Given the description of an element on the screen output the (x, y) to click on. 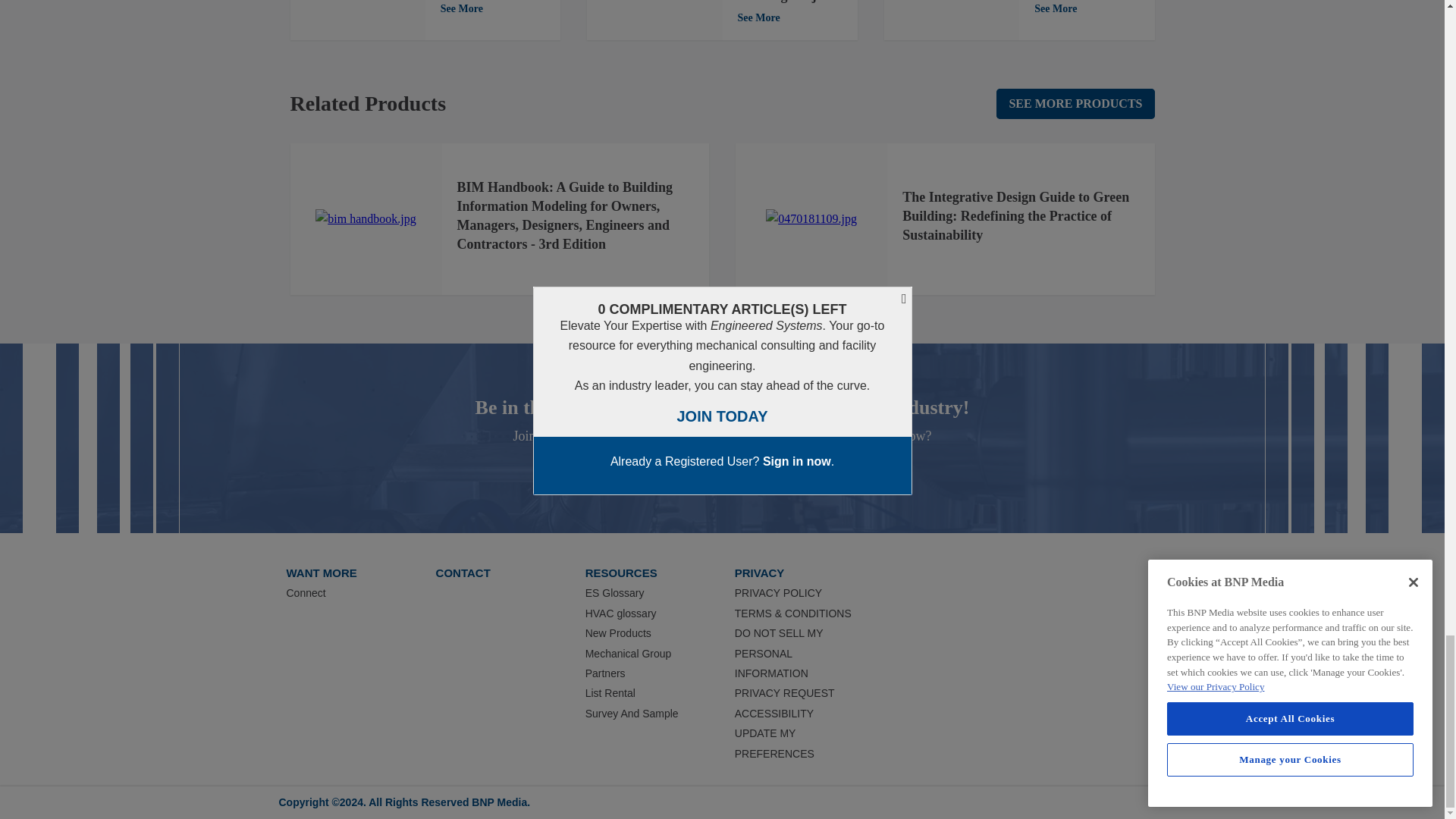
0470181109.jpg (811, 219)
bim handbook.jpg (364, 219)
